Given the description of an element on the screen output the (x, y) to click on. 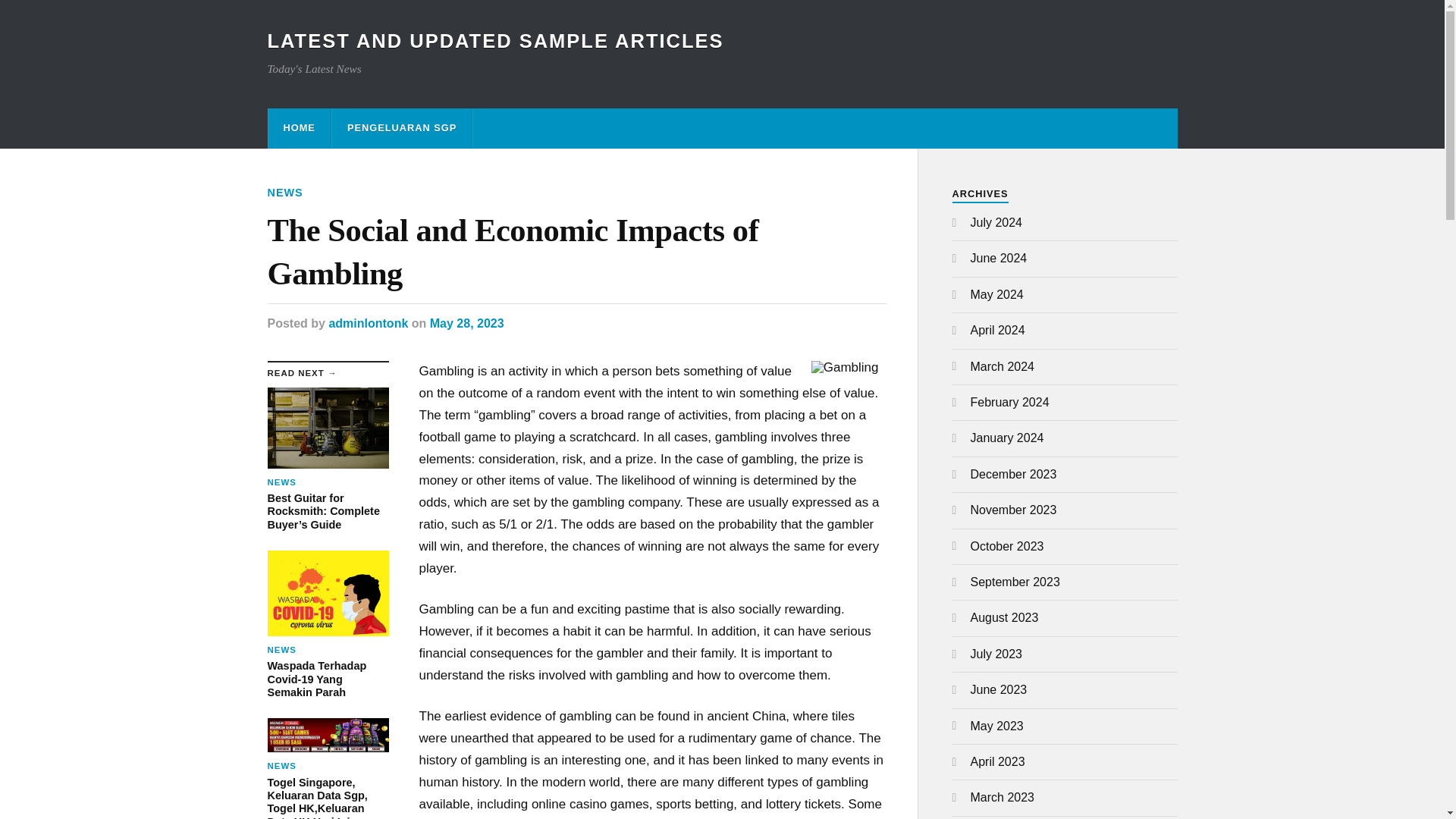
April 2023 (998, 761)
May 2024 (997, 294)
May 28, 2023 (466, 323)
July 2023 (997, 653)
HOME (298, 128)
PENGELUARAN SGP (401, 128)
June 2023 (999, 689)
NEWS (284, 192)
LATEST AND UPDATED SAMPLE ARTICLES (494, 40)
November 2023 (1014, 509)
adminlontonk (368, 323)
February 2024 (1010, 401)
October 2023 (1007, 545)
September 2023 (1015, 581)
March 2024 (1003, 366)
